Given the description of an element on the screen output the (x, y) to click on. 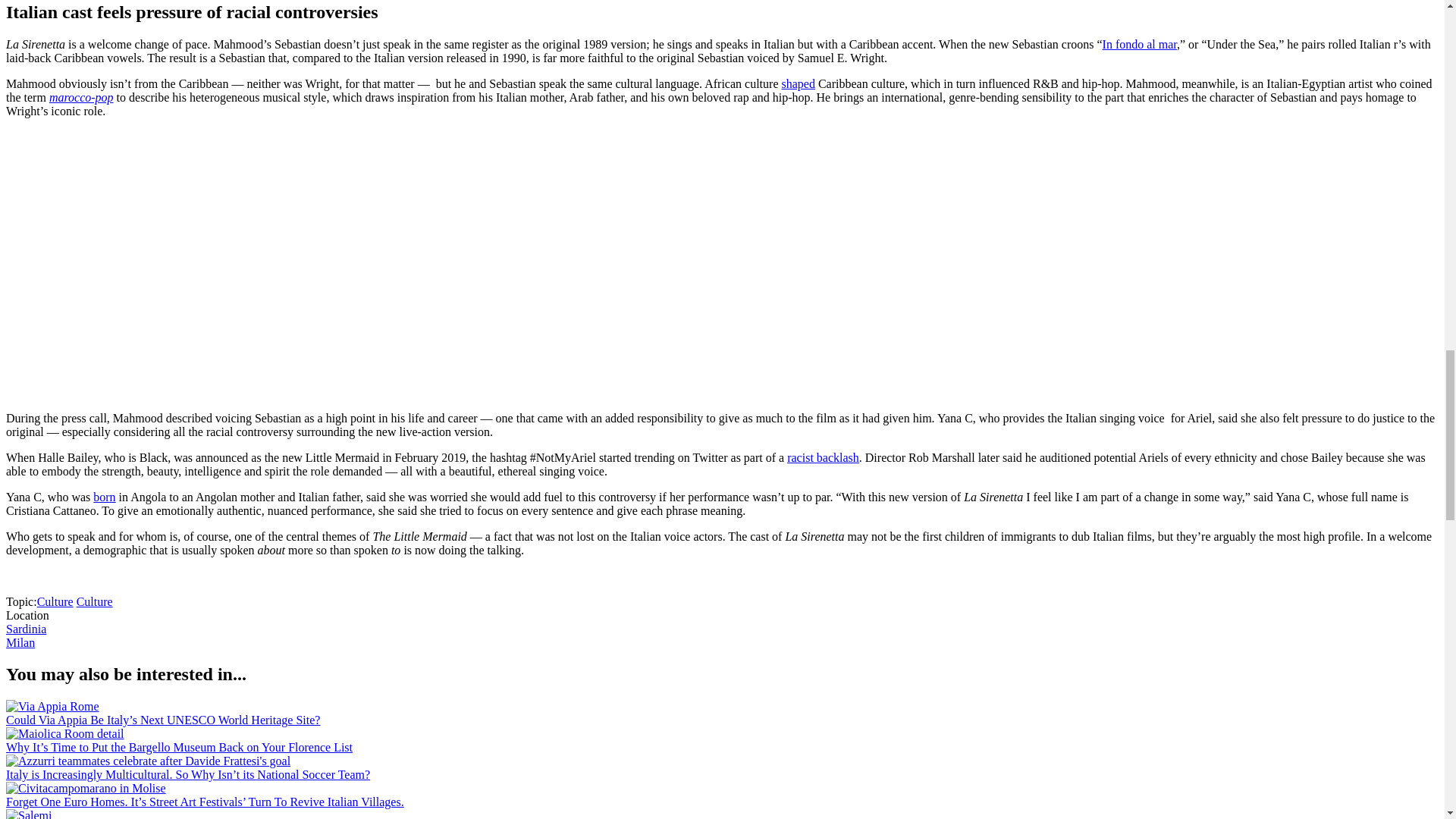
Via Appia Rome (52, 706)
YouTube video player (217, 263)
